Given the description of an element on the screen output the (x, y) to click on. 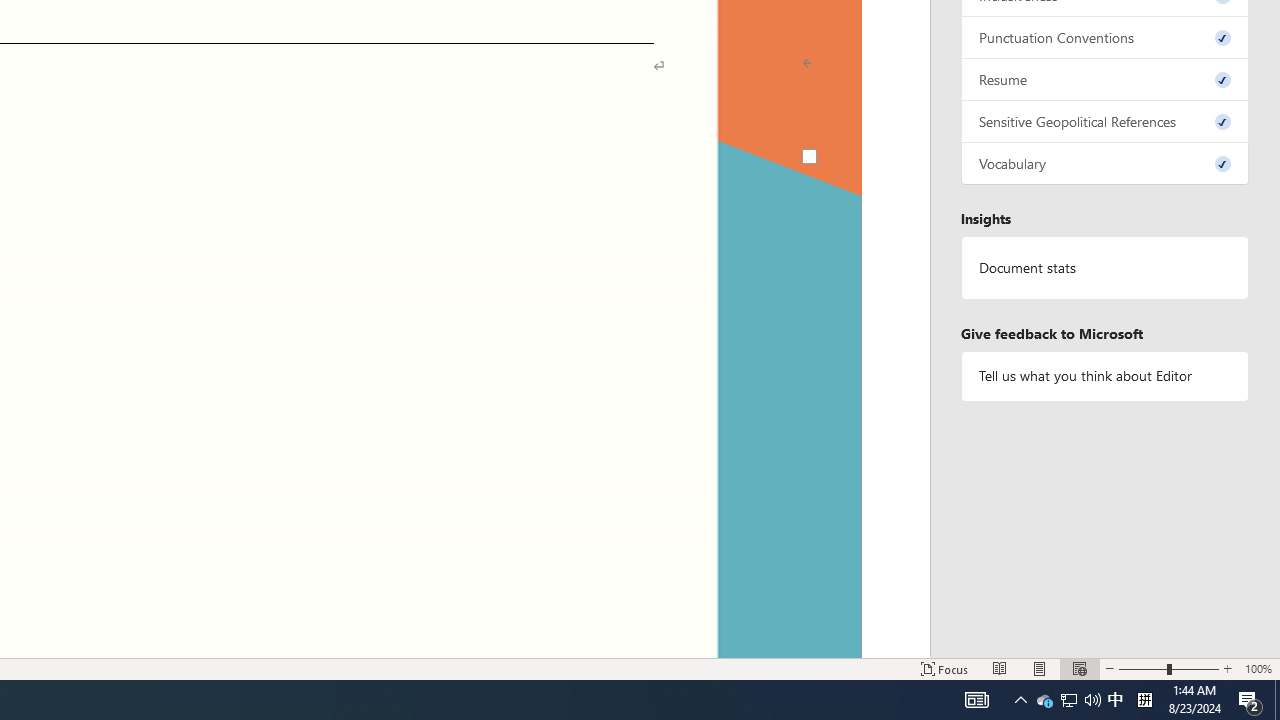
Tell us what you think about Editor (1105, 376)
Vocabulary, 0 issues. Press space or enter to review items. (1105, 163)
Zoom 100% (1258, 668)
Document statistics (1105, 267)
Resume, 0 issues. Press space or enter to review items. (1105, 79)
